Given the description of an element on the screen output the (x, y) to click on. 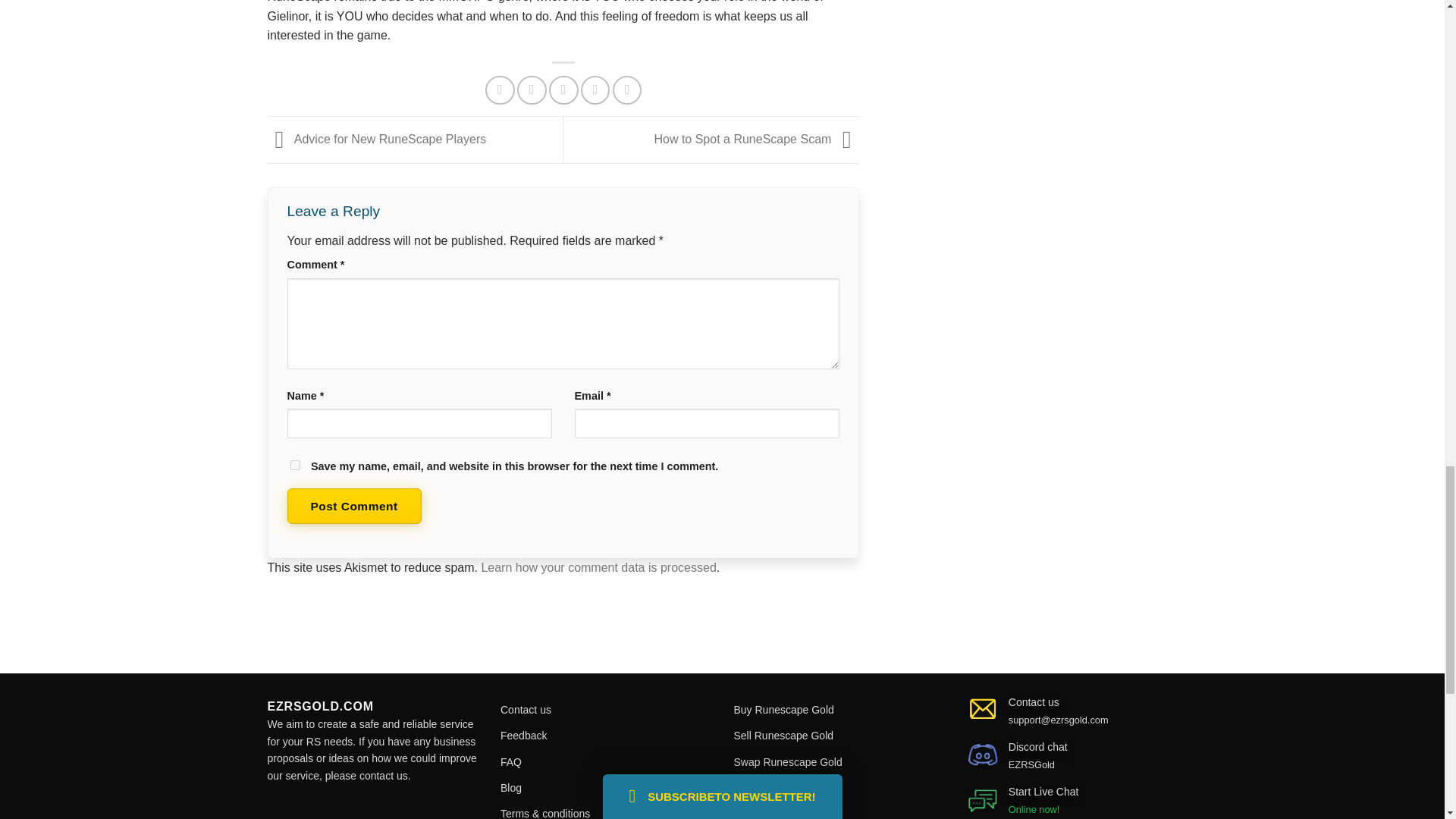
Pin on Pinterest (595, 90)
Share on Twitter (531, 90)
Post Comment (353, 506)
Share on Facebook (498, 90)
Share on LinkedIn (627, 90)
Email to a Friend (563, 90)
yes (294, 465)
